Given the description of an element on the screen output the (x, y) to click on. 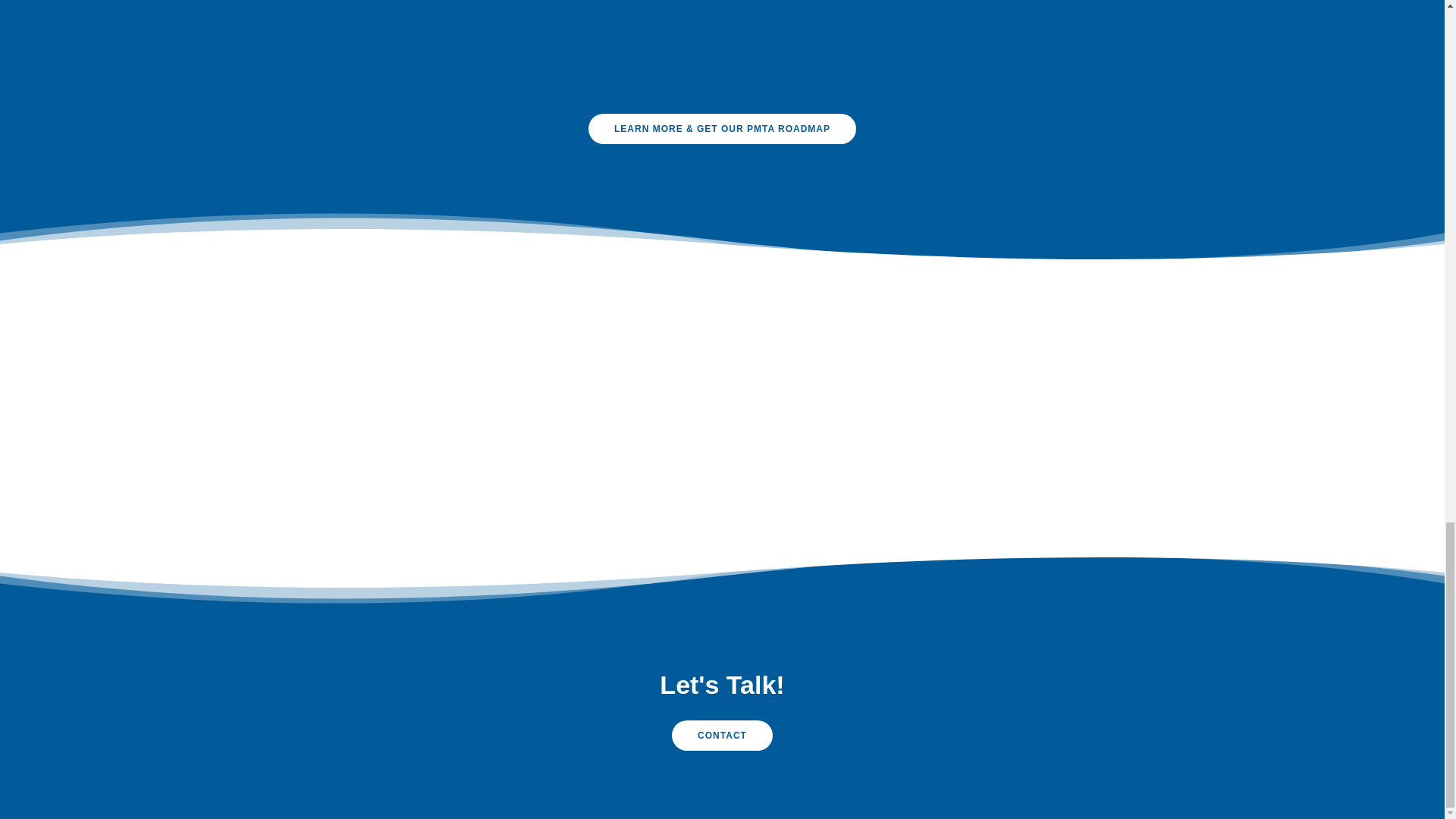
CONTACT (722, 735)
